Given the description of an element on the screen output the (x, y) to click on. 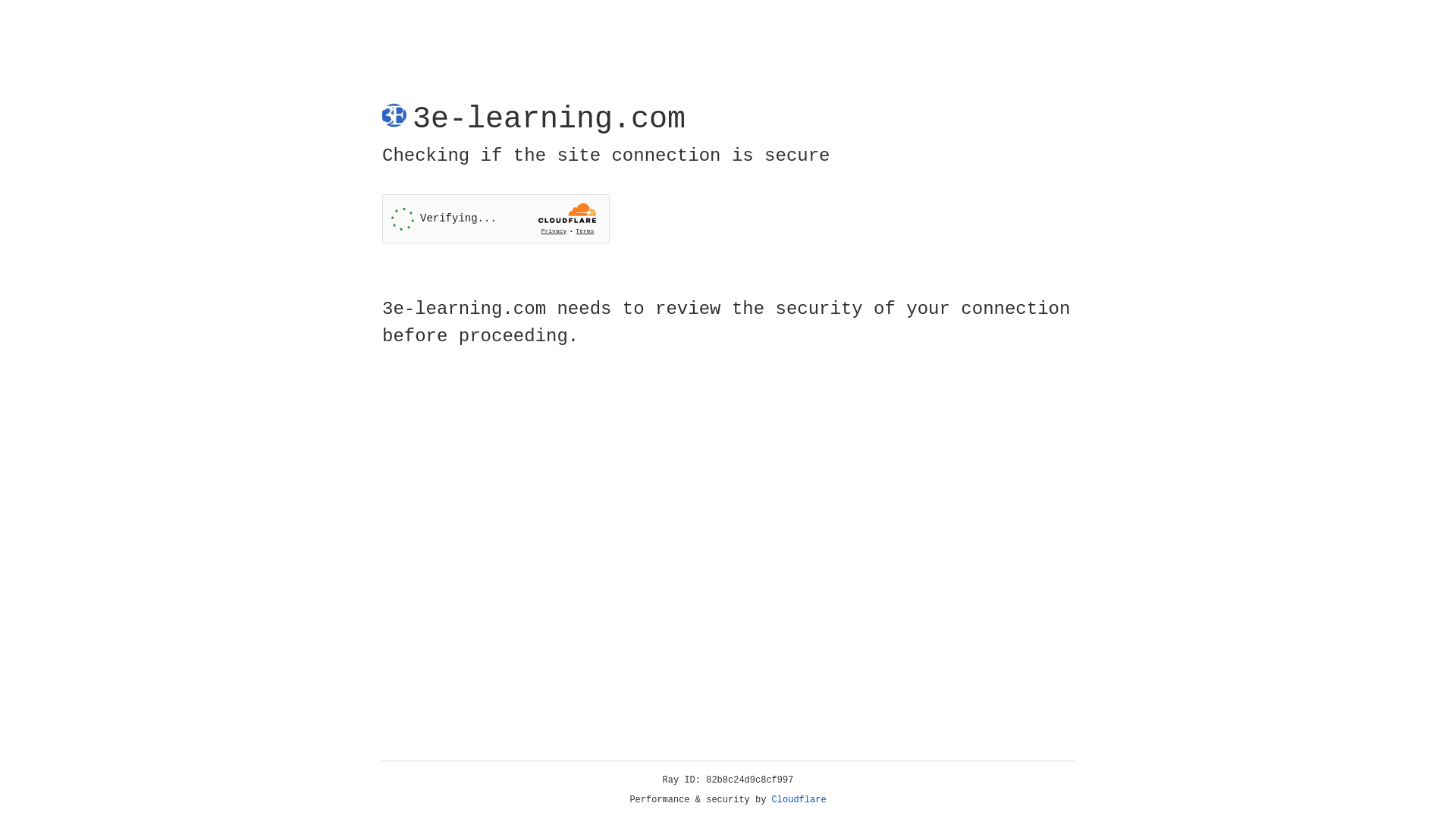
Widget containing a Cloudflare security challenge Element type: hover (495, 218)
Cloudflare Element type: text (798, 799)
